Given the description of an element on the screen output the (x, y) to click on. 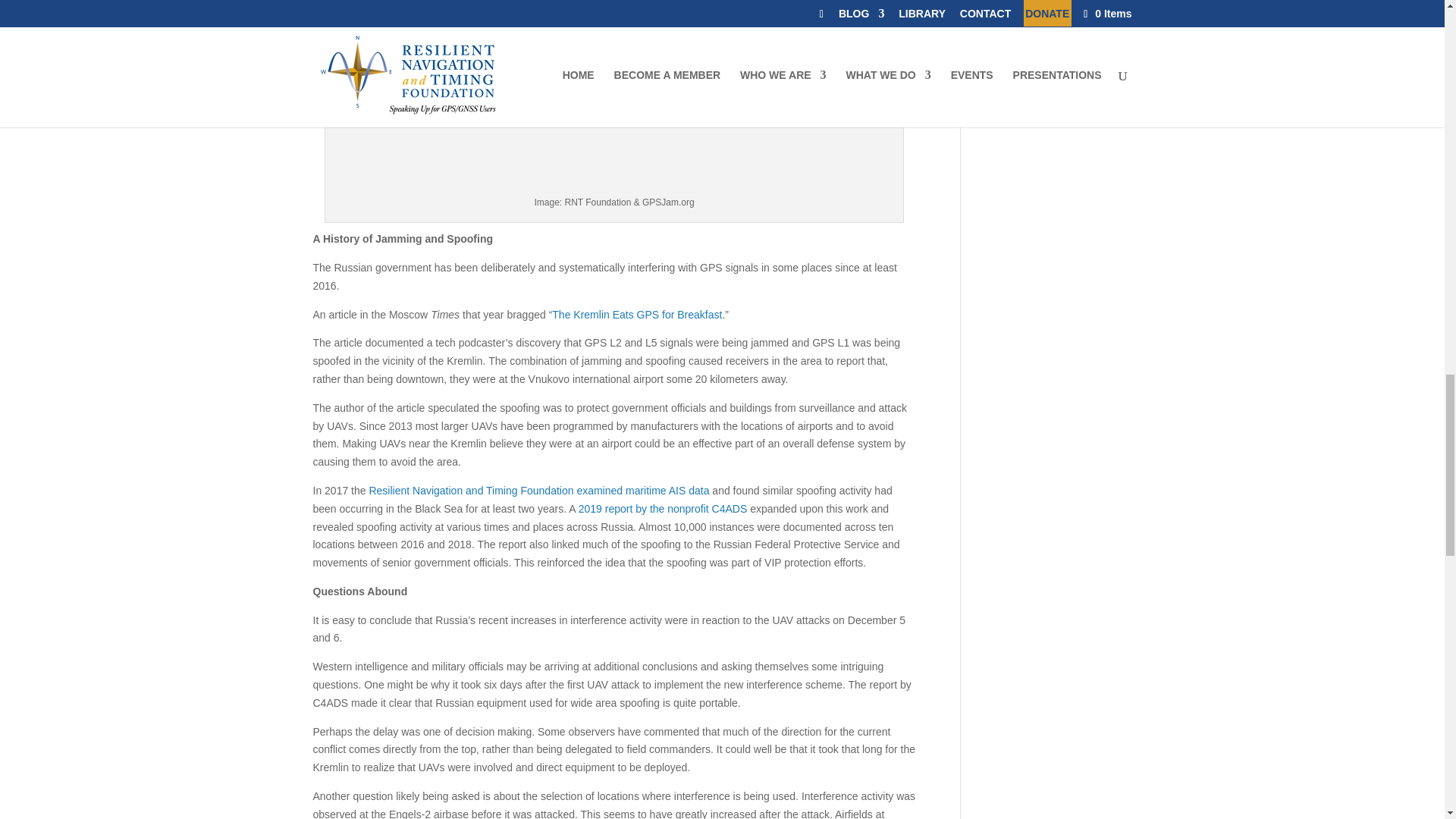
2019 report by the nonprofit C4ADS (663, 508)
The Kremlin Eats GPS for Breakfast (636, 314)
